Given the description of an element on the screen output the (x, y) to click on. 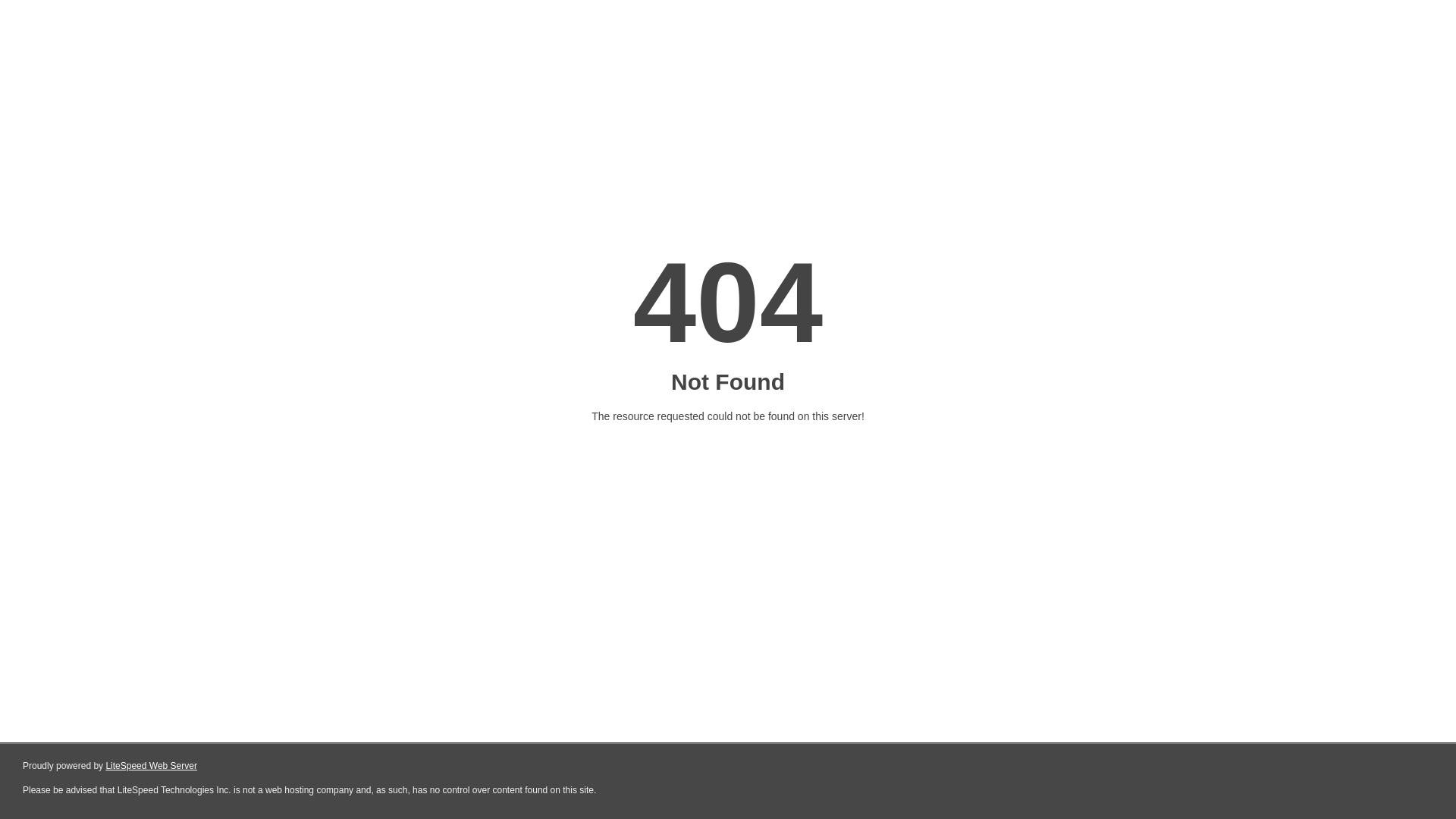
LiteSpeed Web Server Element type: text (151, 765)
